Given the description of an element on the screen output the (x, y) to click on. 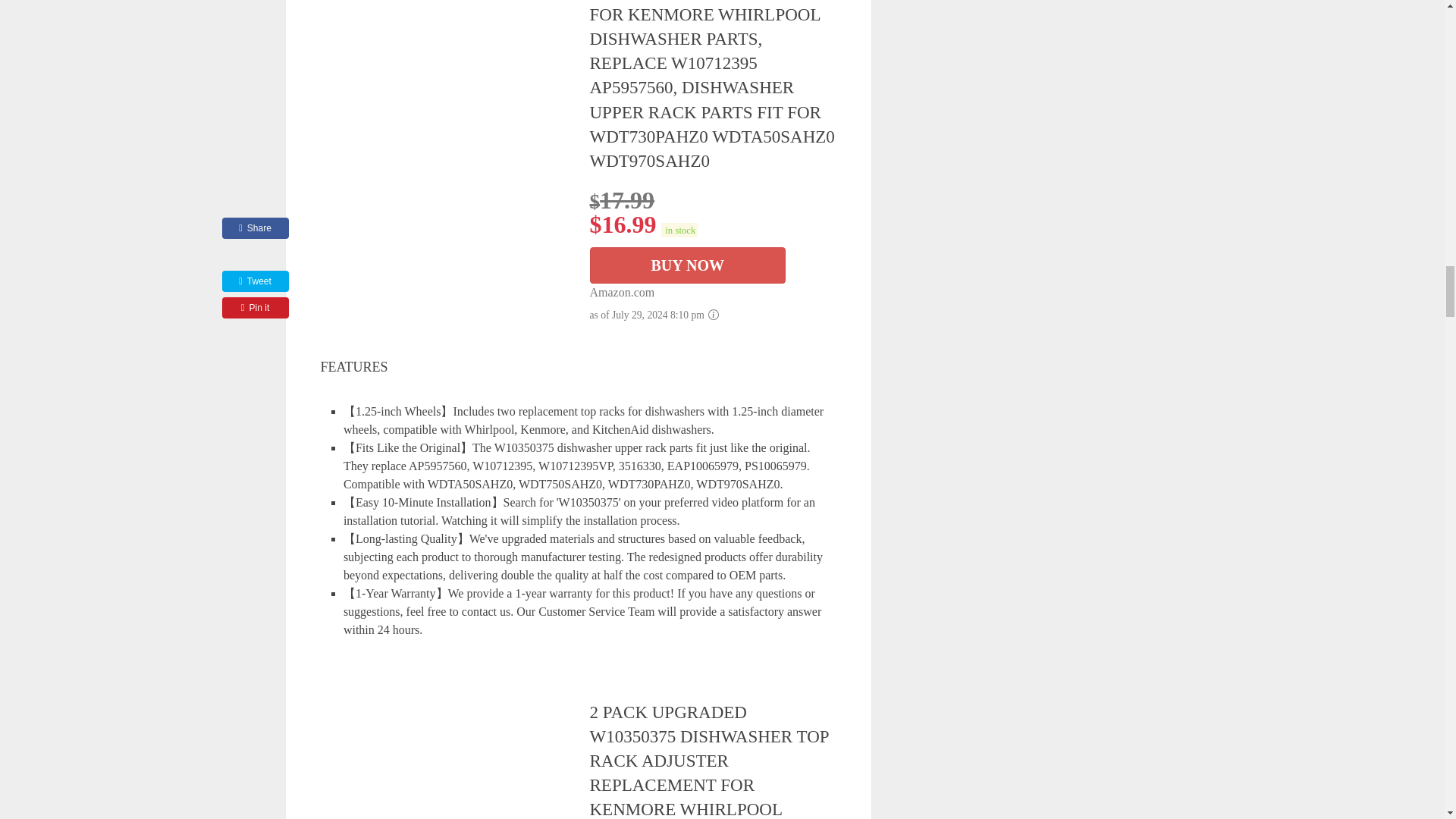
Last updated on July 29, 2024 8:10 pm (679, 229)
